Given the description of an element on the screen output the (x, y) to click on. 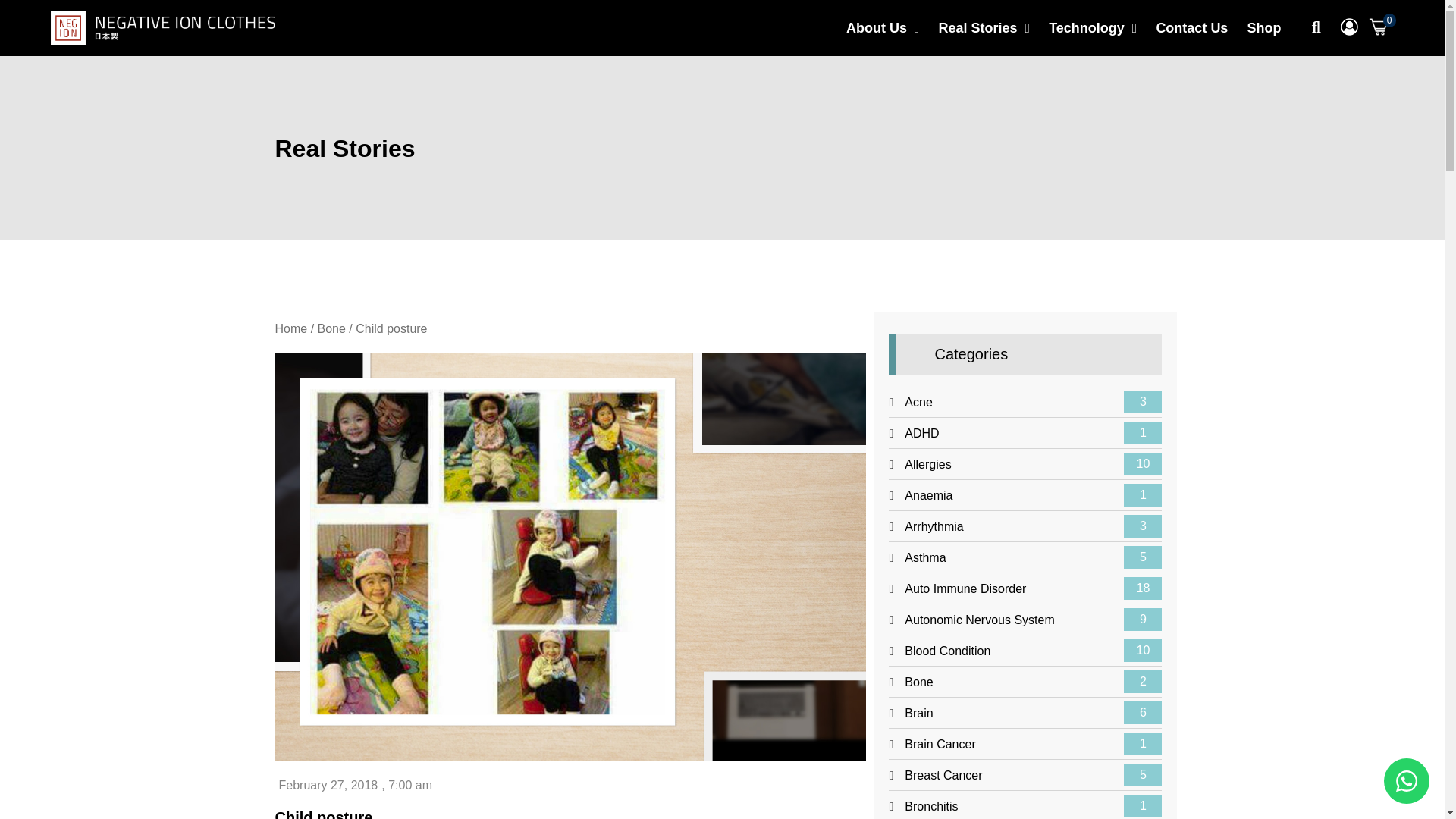
About Us (882, 27)
Shop (1263, 27)
Technology (1092, 27)
0 (1377, 36)
Contact Us (1191, 27)
Real Stories (984, 27)
